Given the description of an element on the screen output the (x, y) to click on. 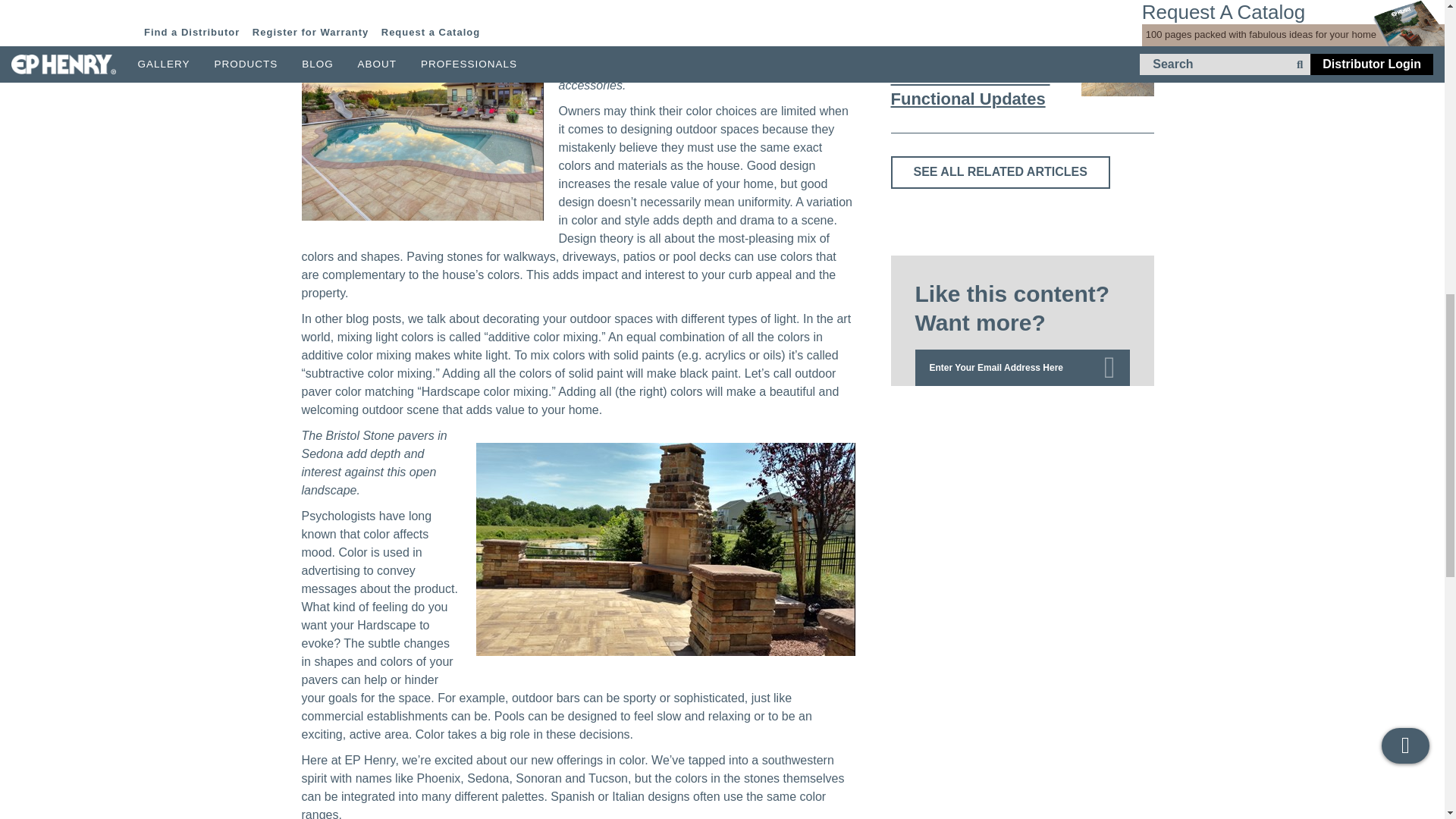
Submit (1114, 367)
